Given the description of an element on the screen output the (x, y) to click on. 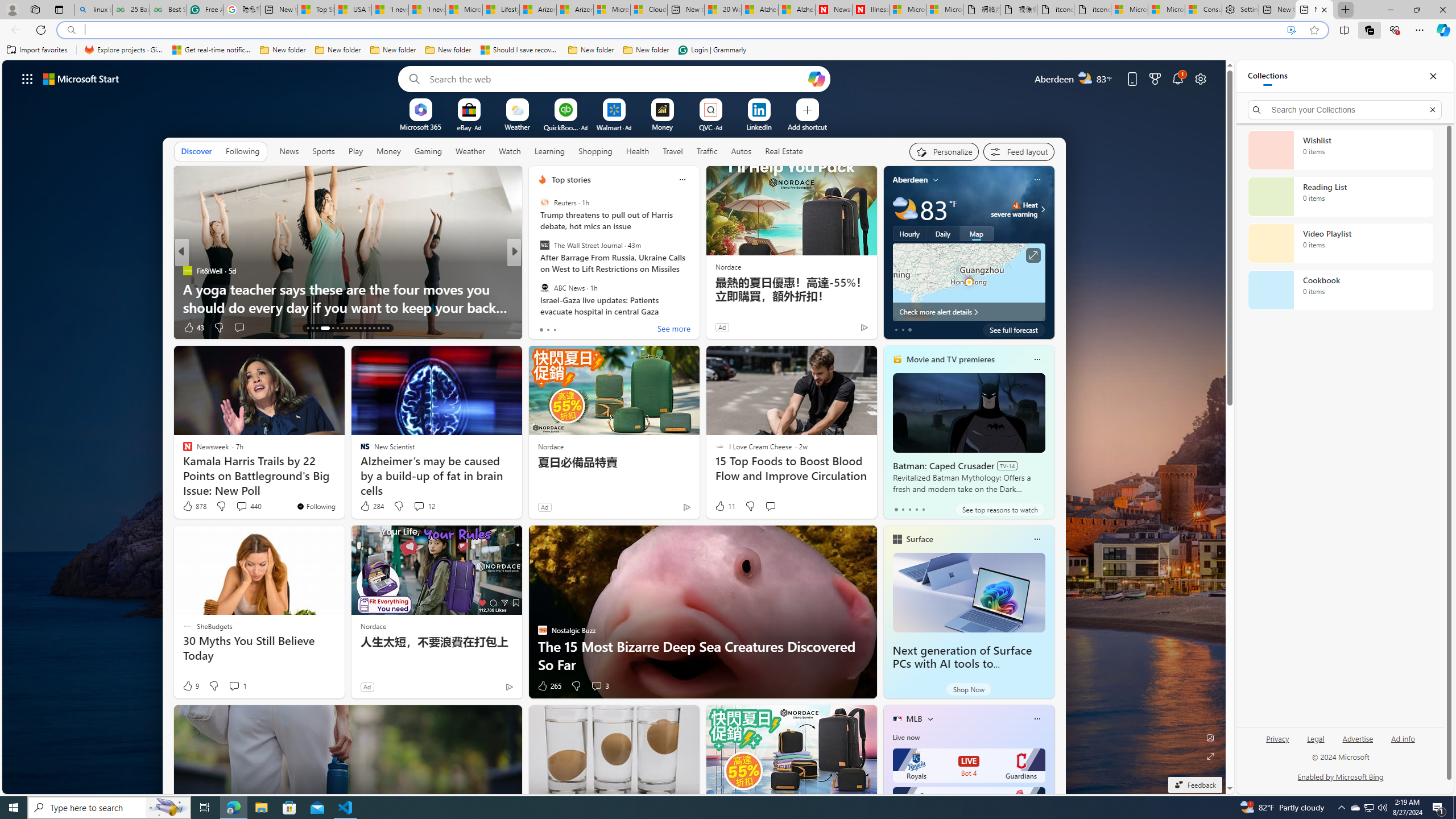
tab-0 (895, 509)
Search your Collections (1345, 109)
Daily (942, 233)
AutomationID: tab-20 (346, 328)
Lifestyle - MSN (500, 9)
View comments 12 Comment (423, 505)
